Given the description of an element on the screen output the (x, y) to click on. 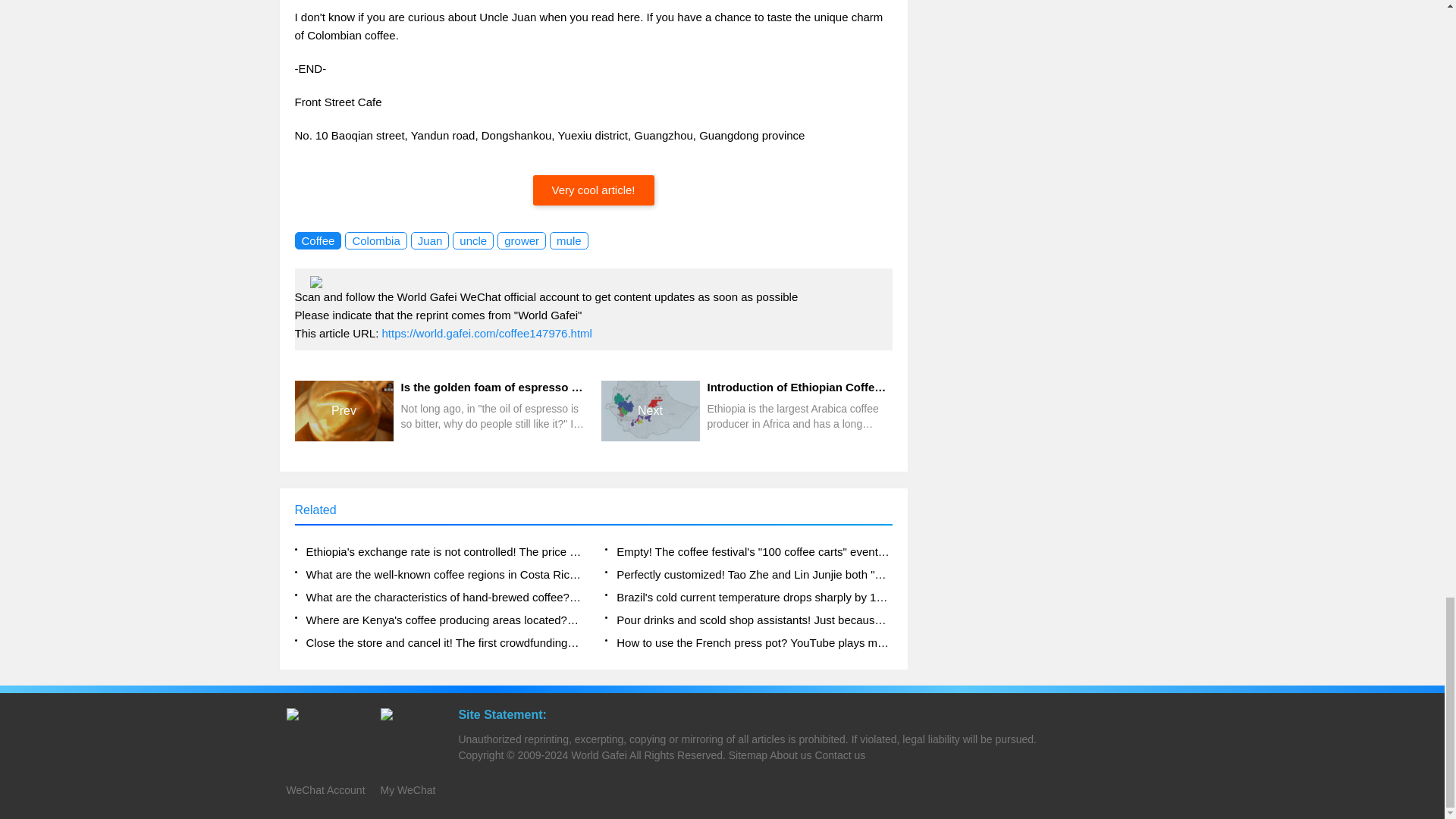
mule (569, 240)
Very cool article! (592, 189)
grower (521, 240)
Juan (429, 240)
Coffee (317, 240)
